Given the description of an element on the screen output the (x, y) to click on. 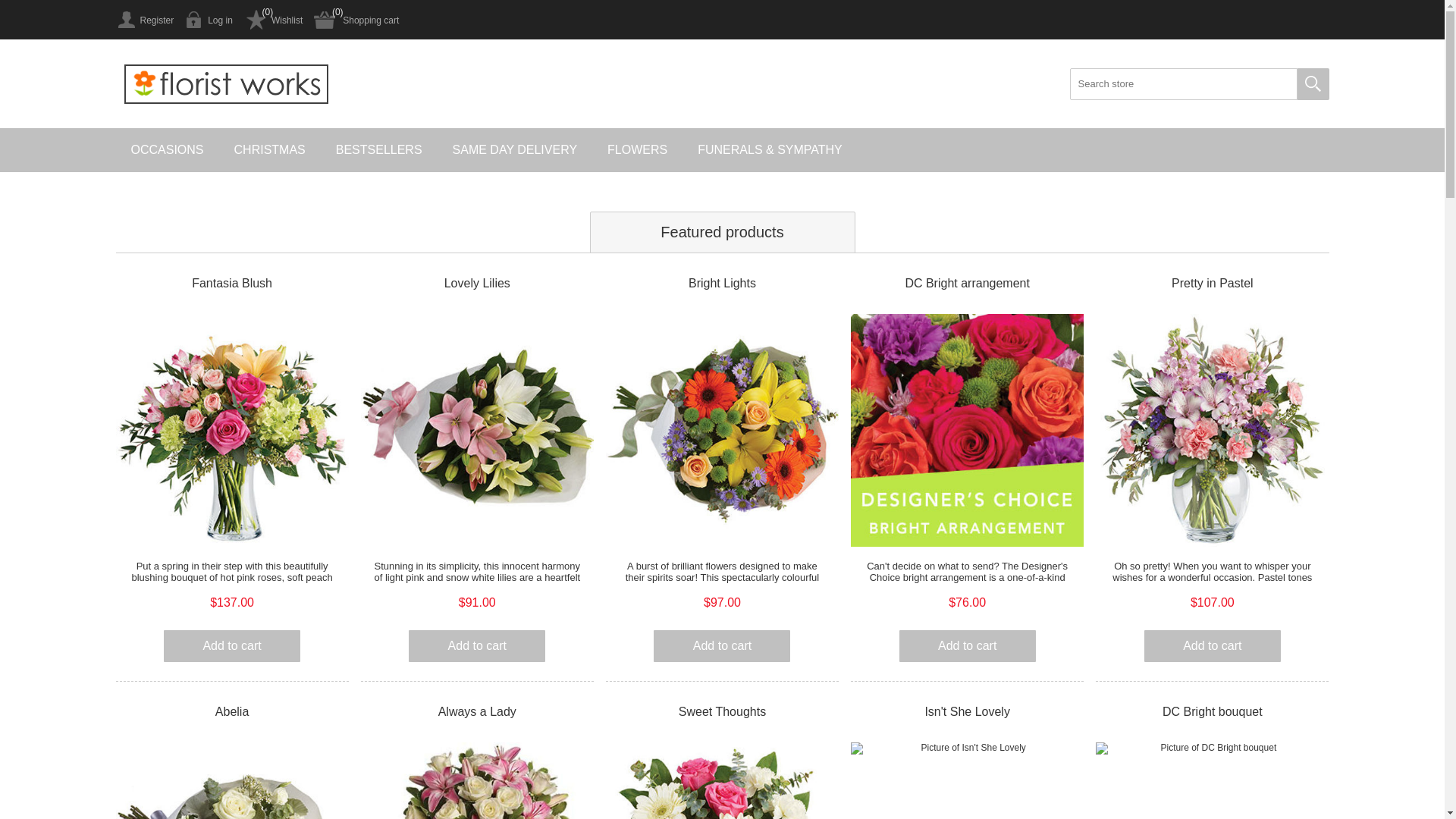
Add to cart Element type: text (1212, 646)
Lovely Lilies Element type: text (476, 283)
Search Element type: text (1312, 84)
Show details for Bright Lights Element type: hover (721, 429)
Pretty in Pastel Element type: text (1211, 283)
Show details for Fantasia Blush Element type: hover (232, 429)
Show details for DC Bright arrangement Element type: hover (966, 429)
Show details for Pretty in Pastel Element type: hover (1211, 429)
Bright Lights Element type: text (721, 283)
BESTSELLERS Element type: text (378, 150)
Add to cart Element type: text (231, 646)
Fantasia Blush Element type: text (232, 283)
Abelia Element type: text (232, 711)
DC Bright bouquet Element type: text (1211, 711)
OCCASIONS Element type: text (166, 150)
Register Element type: text (144, 19)
Shopping cart Element type: text (355, 19)
Wishlist Element type: text (273, 19)
FUNERALS & SYMPATHY Element type: text (769, 150)
CHRISTMAS Element type: text (269, 150)
Sweet Thoughts Element type: text (721, 711)
Add to cart Element type: text (721, 646)
Add to cart Element type: text (967, 646)
SAME DAY DELIVERY Element type: text (515, 150)
DC Bright arrangement Element type: text (966, 283)
Log in Element type: text (208, 19)
Add to cart Element type: text (476, 646)
FLOWERS Element type: text (637, 150)
Isn't She Lovely Element type: text (966, 711)
Show details for Lovely Lilies Element type: hover (476, 429)
Always a Lady Element type: text (476, 711)
